Given the description of an element on the screen output the (x, y) to click on. 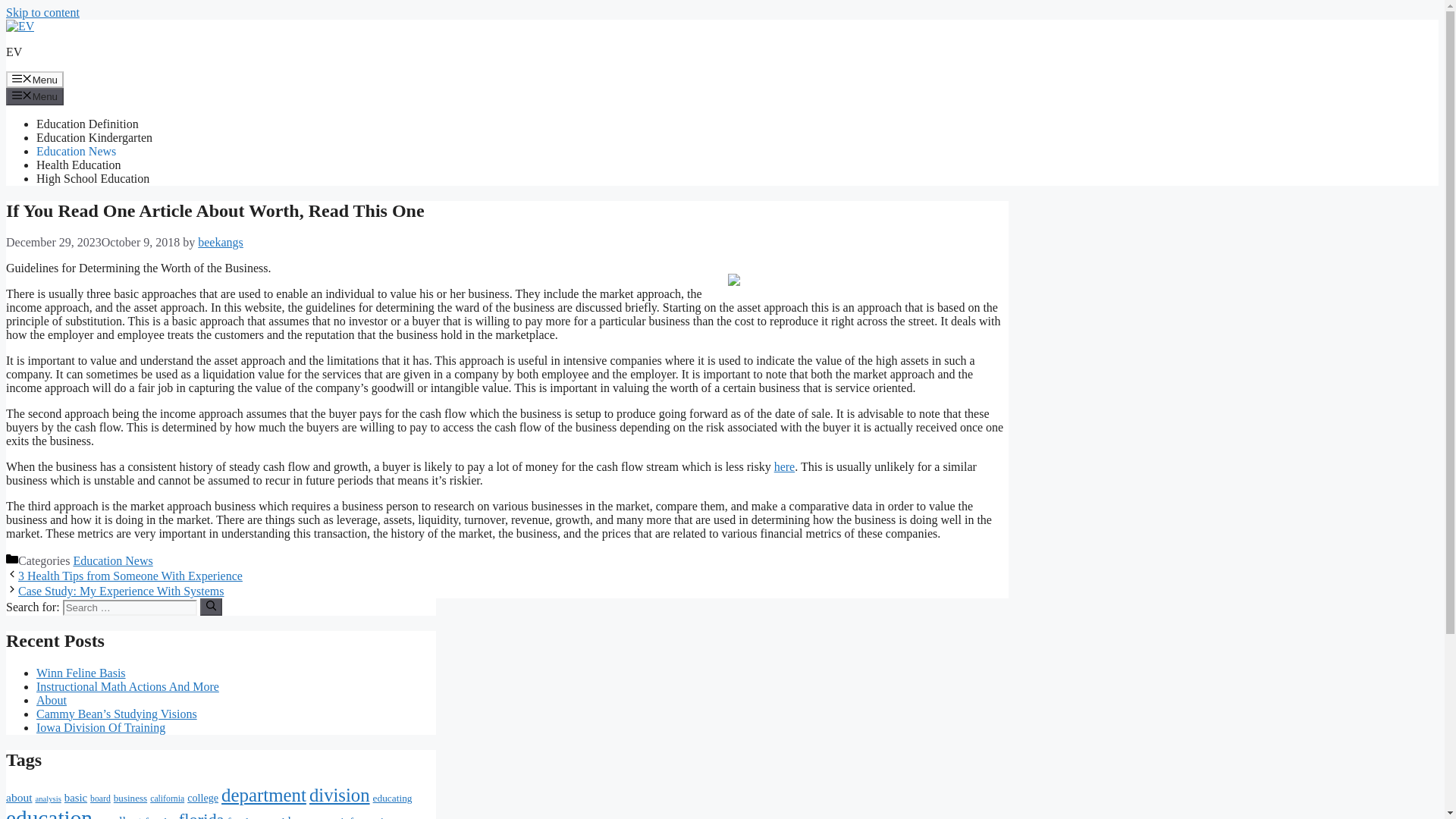
fundamental (256, 816)
About (51, 699)
beekangs (220, 241)
here (784, 466)
educating (392, 797)
Education News (112, 560)
Education Kindergarten (94, 137)
Skip to content (42, 11)
High School Education (92, 178)
Menu (34, 79)
excellent (118, 816)
california (166, 798)
Education News (76, 151)
business (130, 797)
department (263, 794)
